Given the description of an element on the screen output the (x, y) to click on. 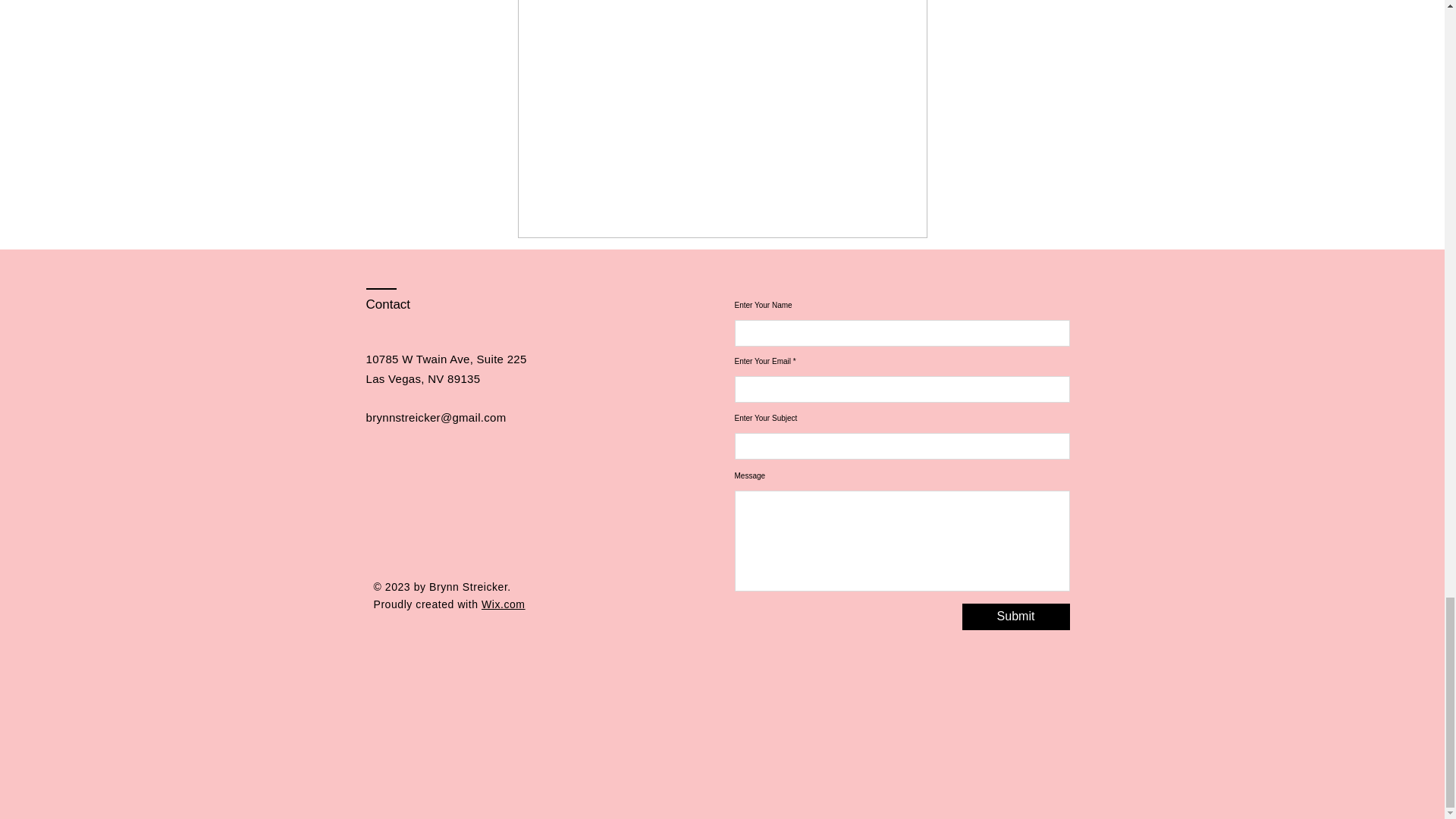
Submit (1014, 616)
Wix.com (503, 604)
17962906201659875.jpg (721, 119)
